Given the description of an element on the screen output the (x, y) to click on. 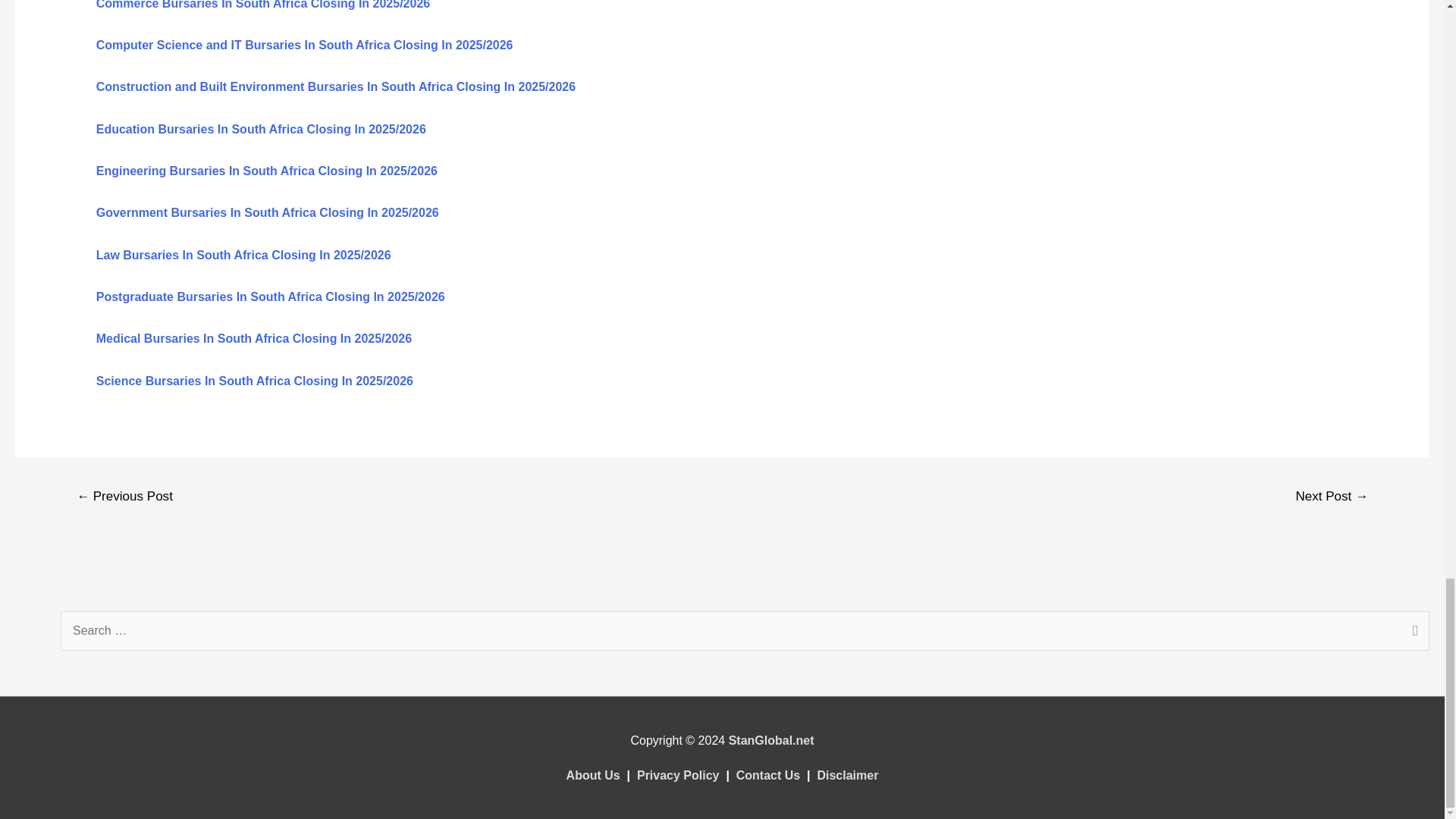
Contact Us (767, 775)
Disclaimer (846, 775)
About Us (593, 775)
StanGlobal.net (771, 739)
Privacy Policy (678, 775)
